Given the description of an element on the screen output the (x, y) to click on. 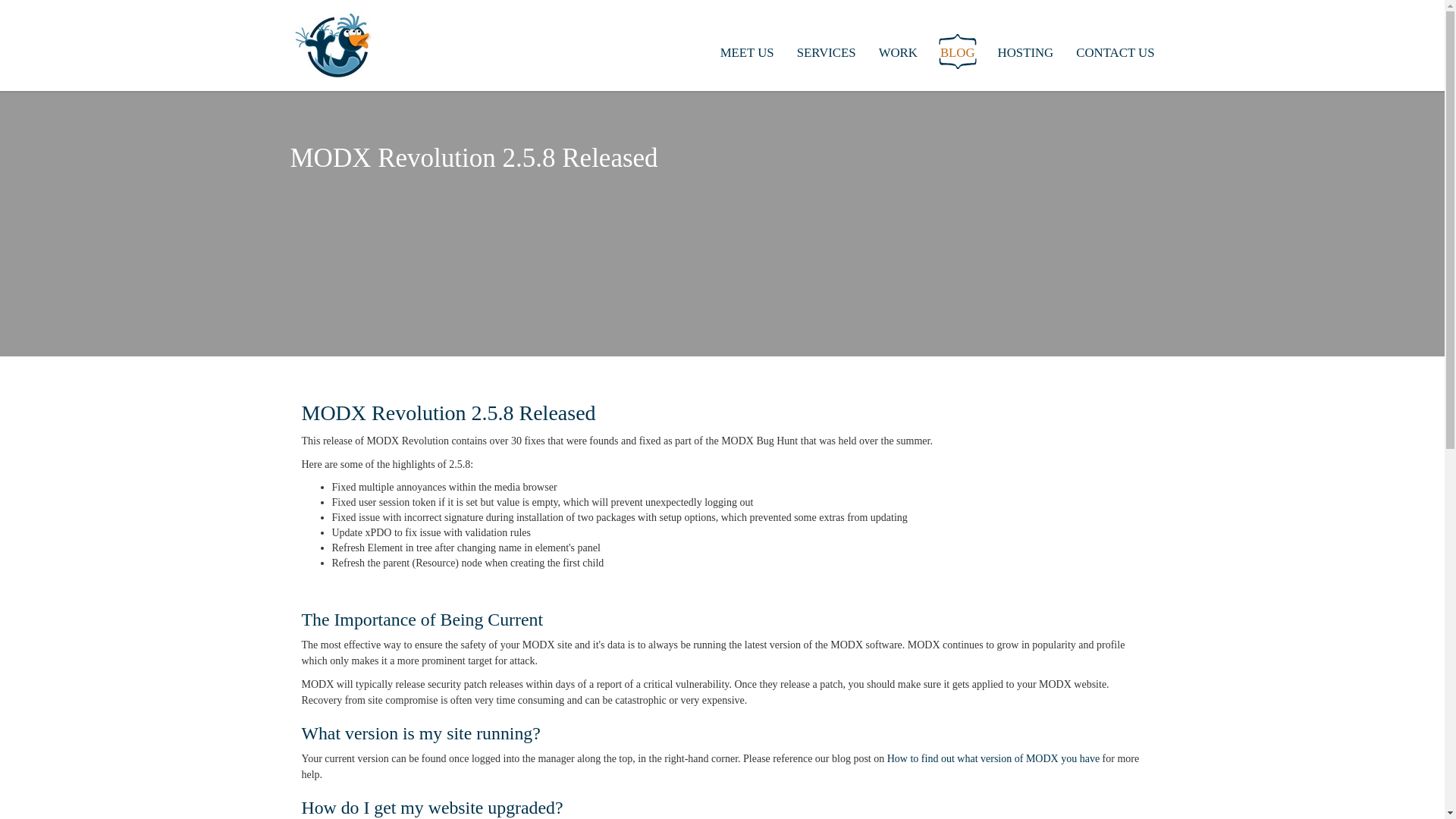
HOSTING (1026, 53)
Hosting (1026, 53)
How to find out what version of MODX you have (992, 758)
Meet Us (747, 53)
MEET US (747, 53)
SERVICES (826, 53)
WORK (897, 53)
BLOG (957, 53)
Services (826, 53)
CONTACT US (1115, 53)
